Given the description of an element on the screen output the (x, y) to click on. 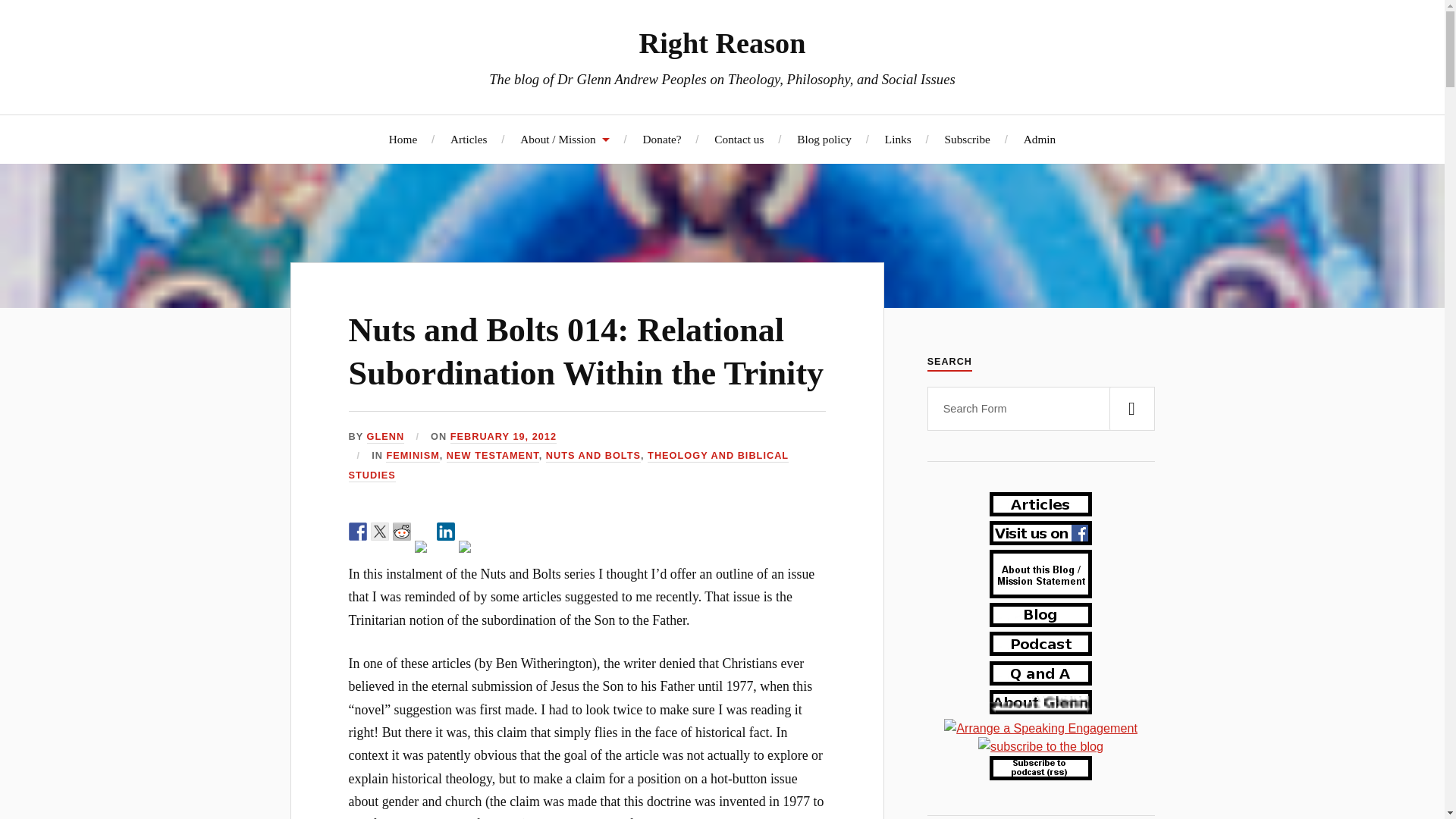
Contact us (738, 138)
Posts by Glenn (385, 436)
FEBRUARY 19, 2012 (502, 436)
NUTS AND BOLTS (593, 455)
GLENN (385, 436)
Share by email (467, 549)
Pin it with Pinterest (420, 546)
Subscribe (967, 138)
Right Reason (722, 42)
Pin it with Pinterest (423, 549)
